Given the description of an element on the screen output the (x, y) to click on. 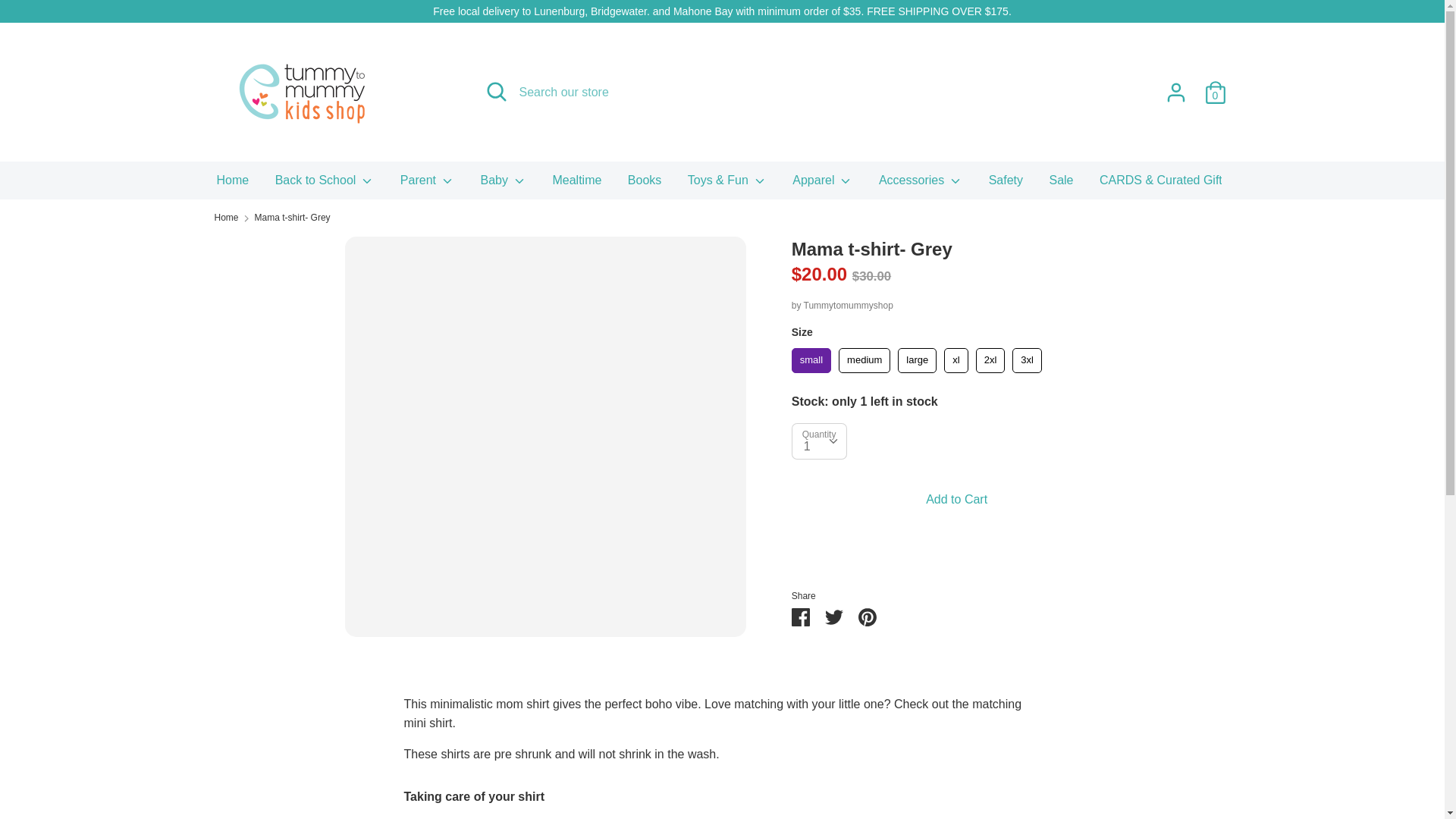
0 (1214, 86)
XL (955, 360)
3XL (1026, 360)
2XL (990, 360)
Medium (863, 360)
Large (917, 360)
Small (811, 360)
